Given the description of an element on the screen output the (x, y) to click on. 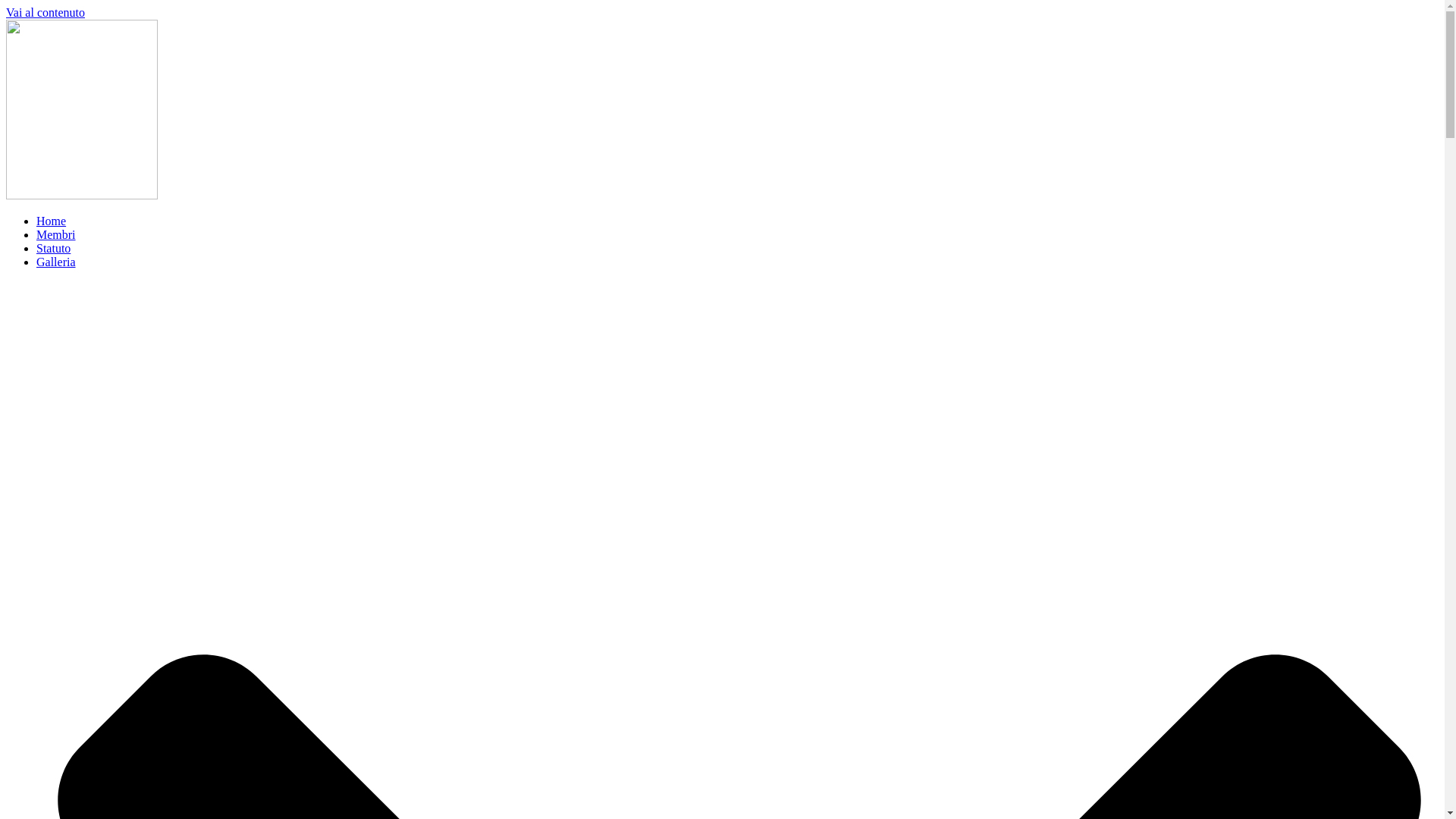
Home Element type: text (50, 220)
Membri Element type: text (55, 234)
Statuto Element type: text (53, 247)
Alnasca Throwing Knife & Axe Element type: hover (81, 194)
Vai al contenuto Element type: text (45, 12)
